Given the description of an element on the screen output the (x, y) to click on. 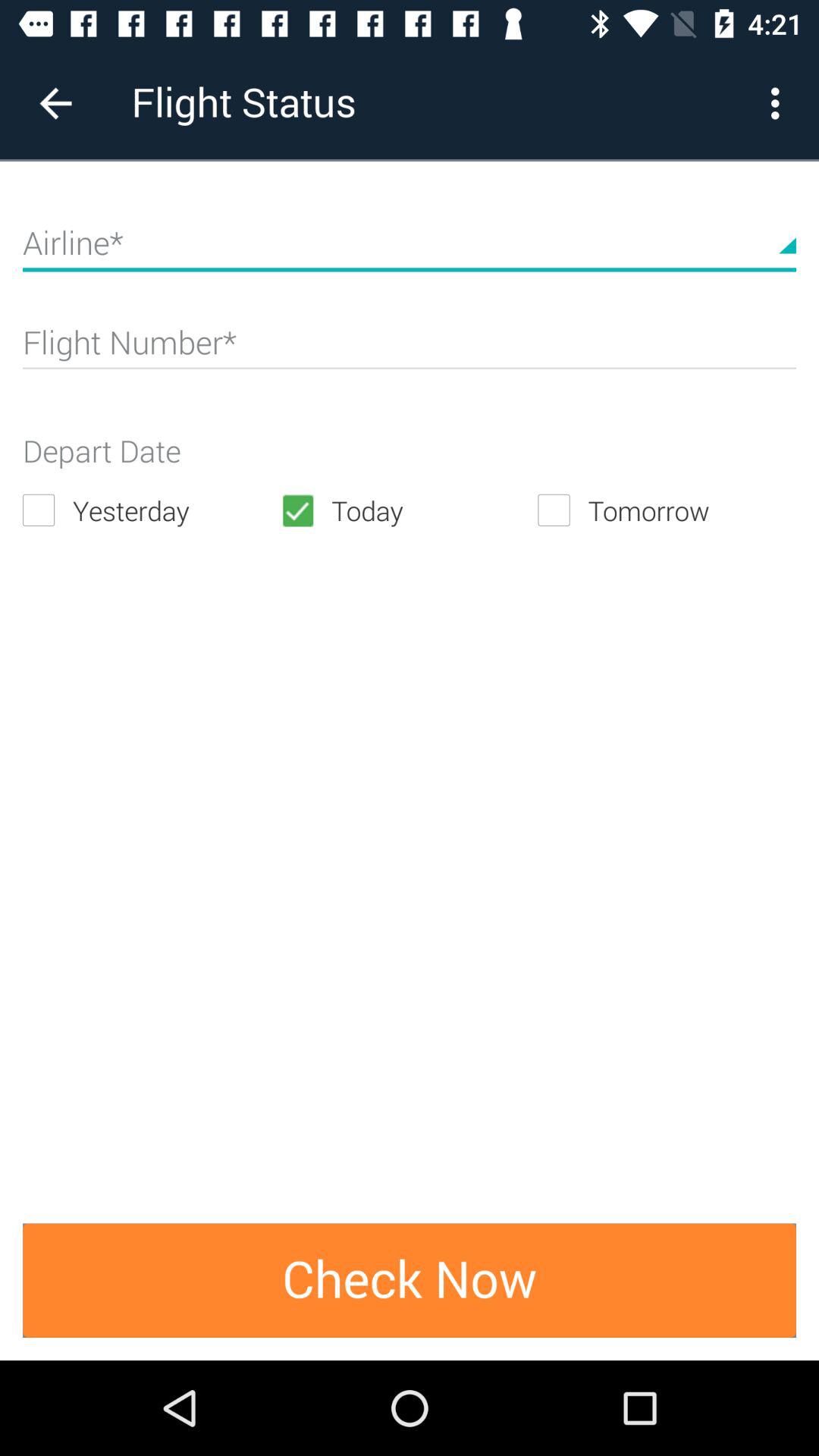
choose your airline (409, 249)
